Given the description of an element on the screen output the (x, y) to click on. 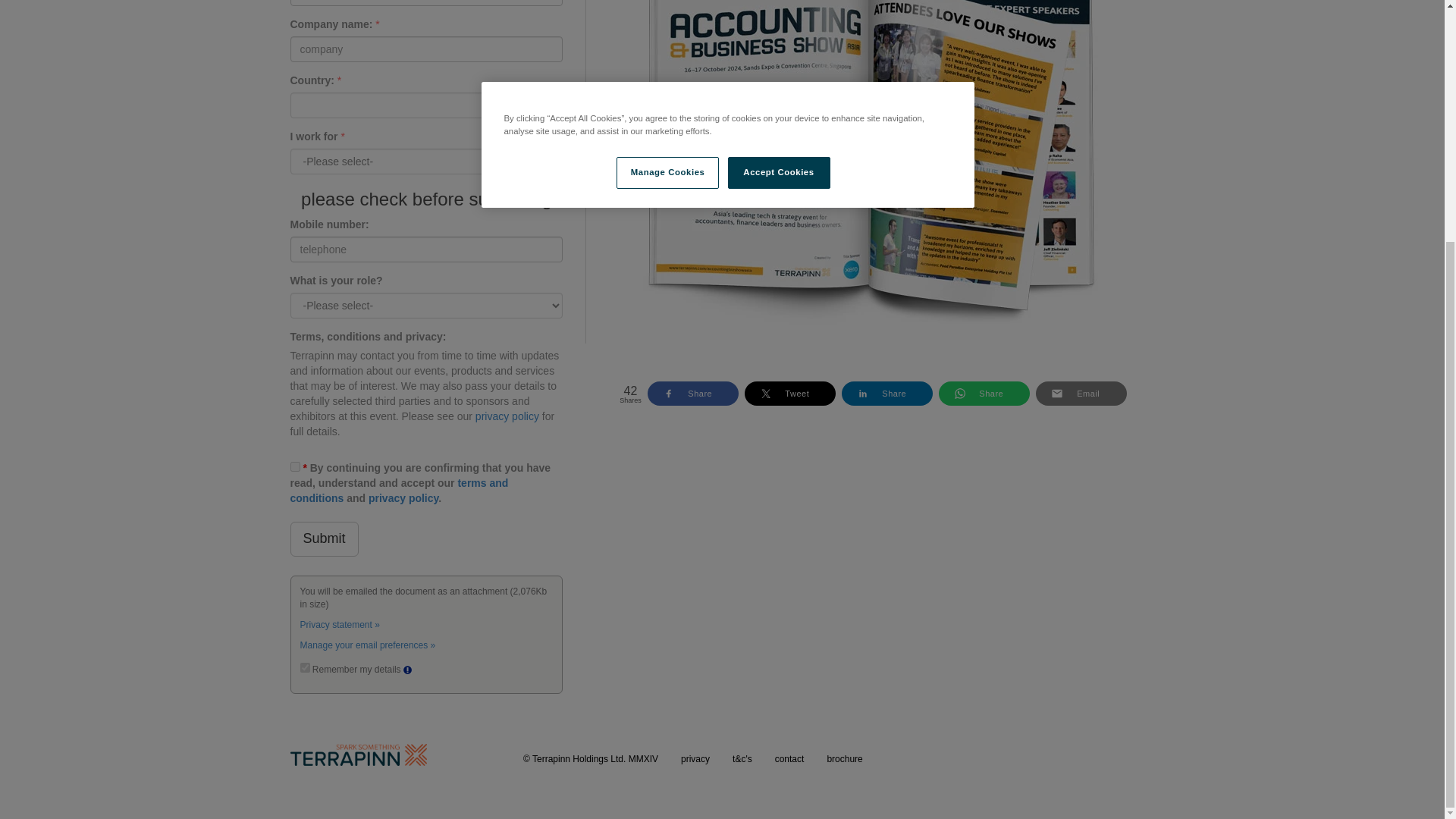
on (294, 466)
Submit (323, 538)
privacy policy (507, 416)
on (304, 667)
Submit (323, 538)
terms and conditions (398, 490)
privacy policy (403, 498)
